Given the description of an element on the screen output the (x, y) to click on. 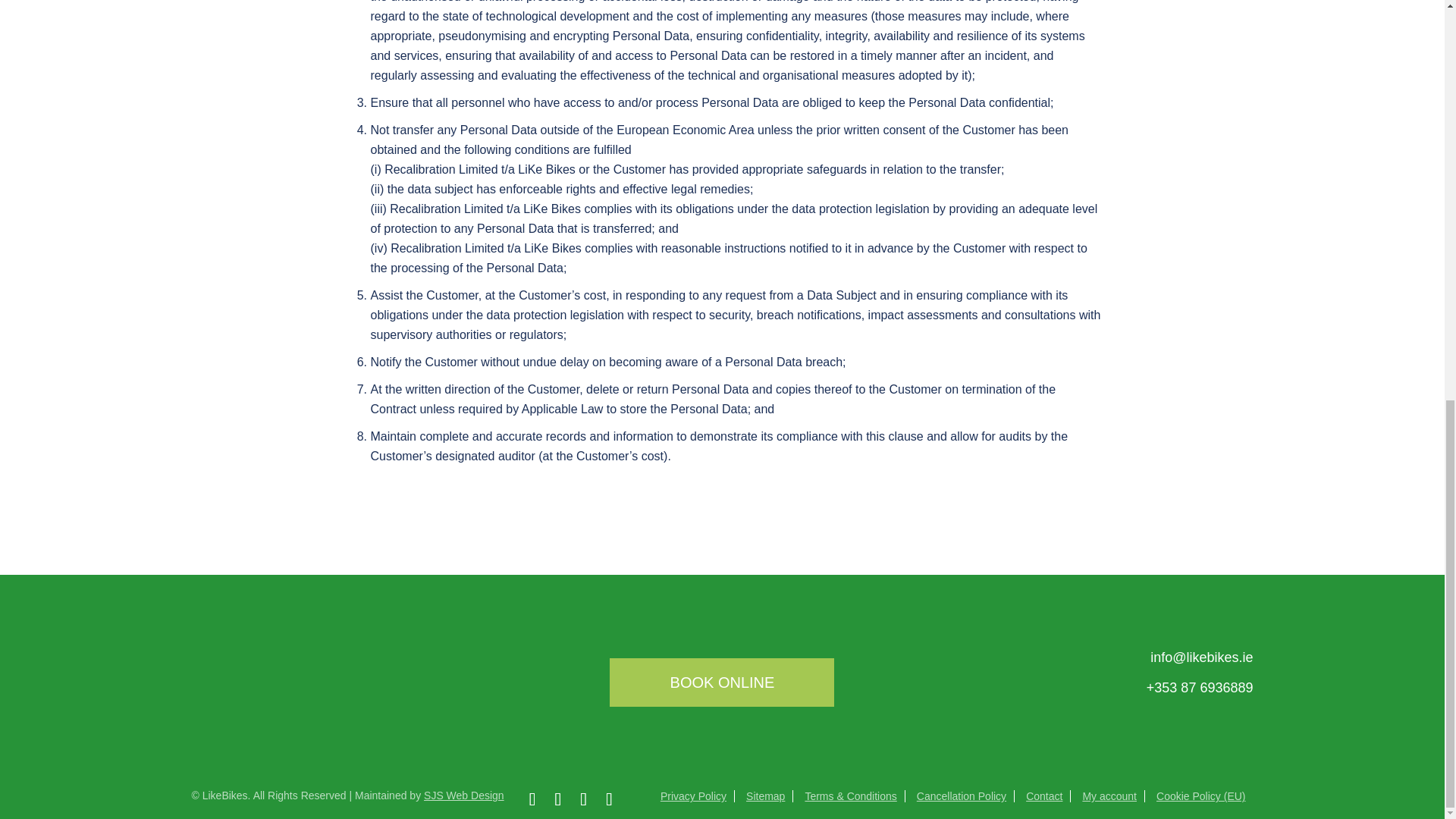
Privacy Policy (693, 796)
My account (1109, 796)
Call Us (1200, 687)
Sitemap (764, 796)
Cancellation Policy (961, 796)
Contact (1044, 796)
Send us an email (1201, 657)
BOOK ONLINE (722, 682)
Check out our Tripadvisor Reviews (641, 799)
